Given the description of an element on the screen output the (x, y) to click on. 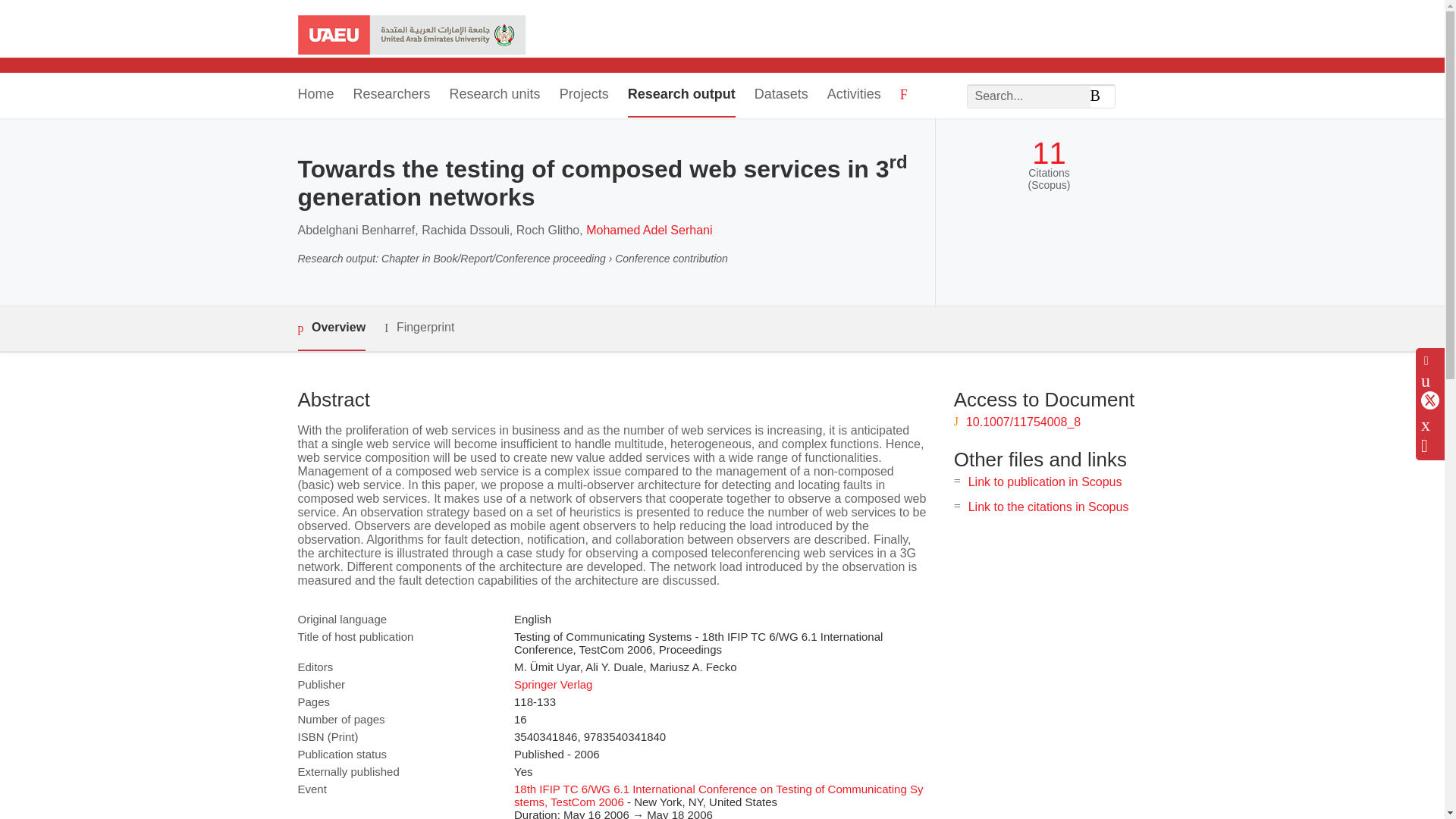
Link to the citations in Scopus (1048, 506)
Research output (681, 94)
Overview (331, 328)
Springer Verlag (552, 684)
Datasets (781, 94)
Projects (583, 94)
Mohamed Adel Serhani (648, 229)
Activities (853, 94)
United Arab Emirates University Home (410, 36)
Link to publication in Scopus (1045, 481)
11 (1048, 153)
Research units (494, 94)
Researchers (391, 94)
Fingerprint (419, 327)
